Given the description of an element on the screen output the (x, y) to click on. 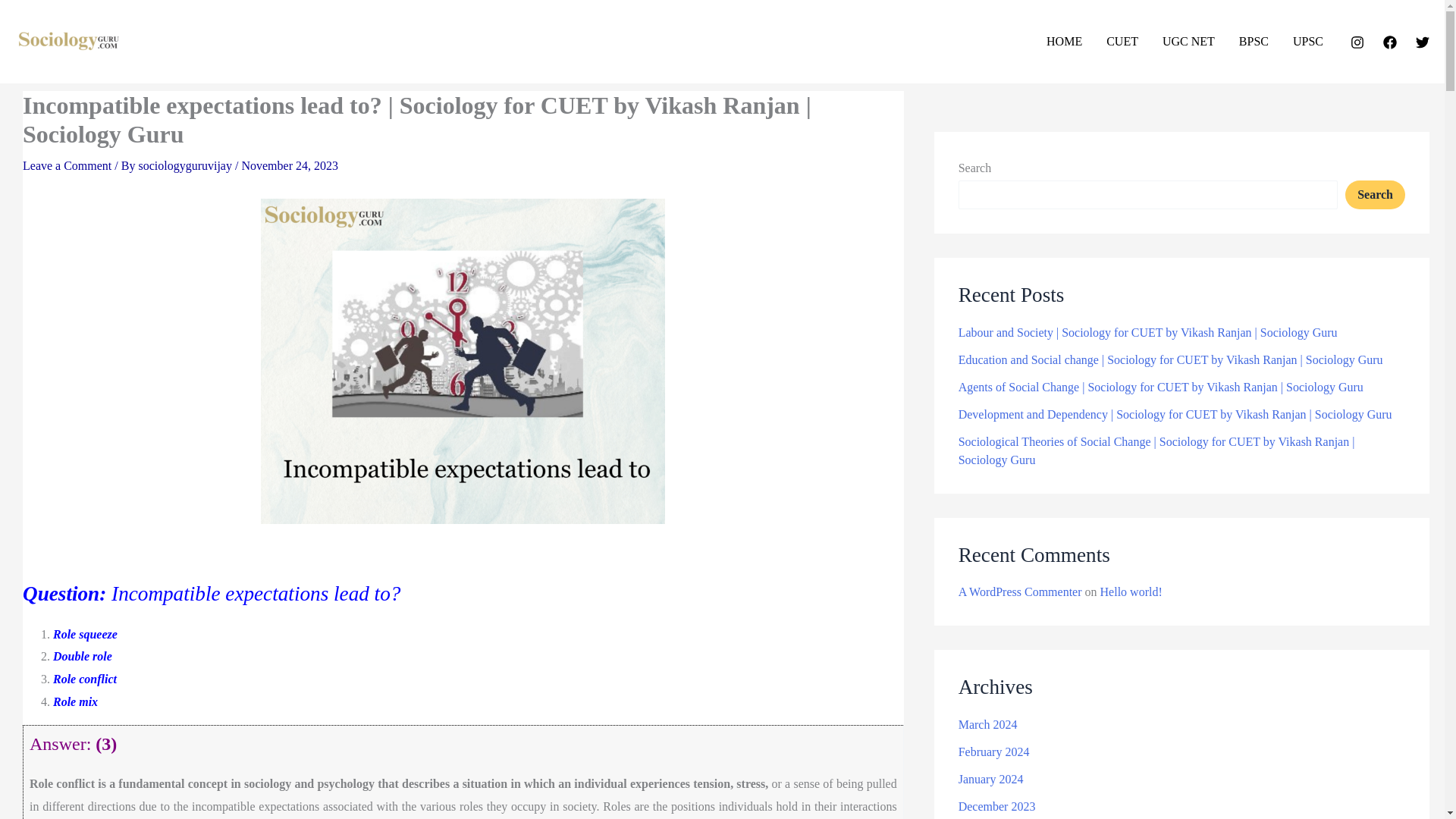
View all posts by sociologyguruvijay (186, 164)
UGC NET (1188, 41)
sociologyguruvijay (186, 164)
Search (1375, 194)
Leave a Comment (67, 164)
